Given the description of an element on the screen output the (x, y) to click on. 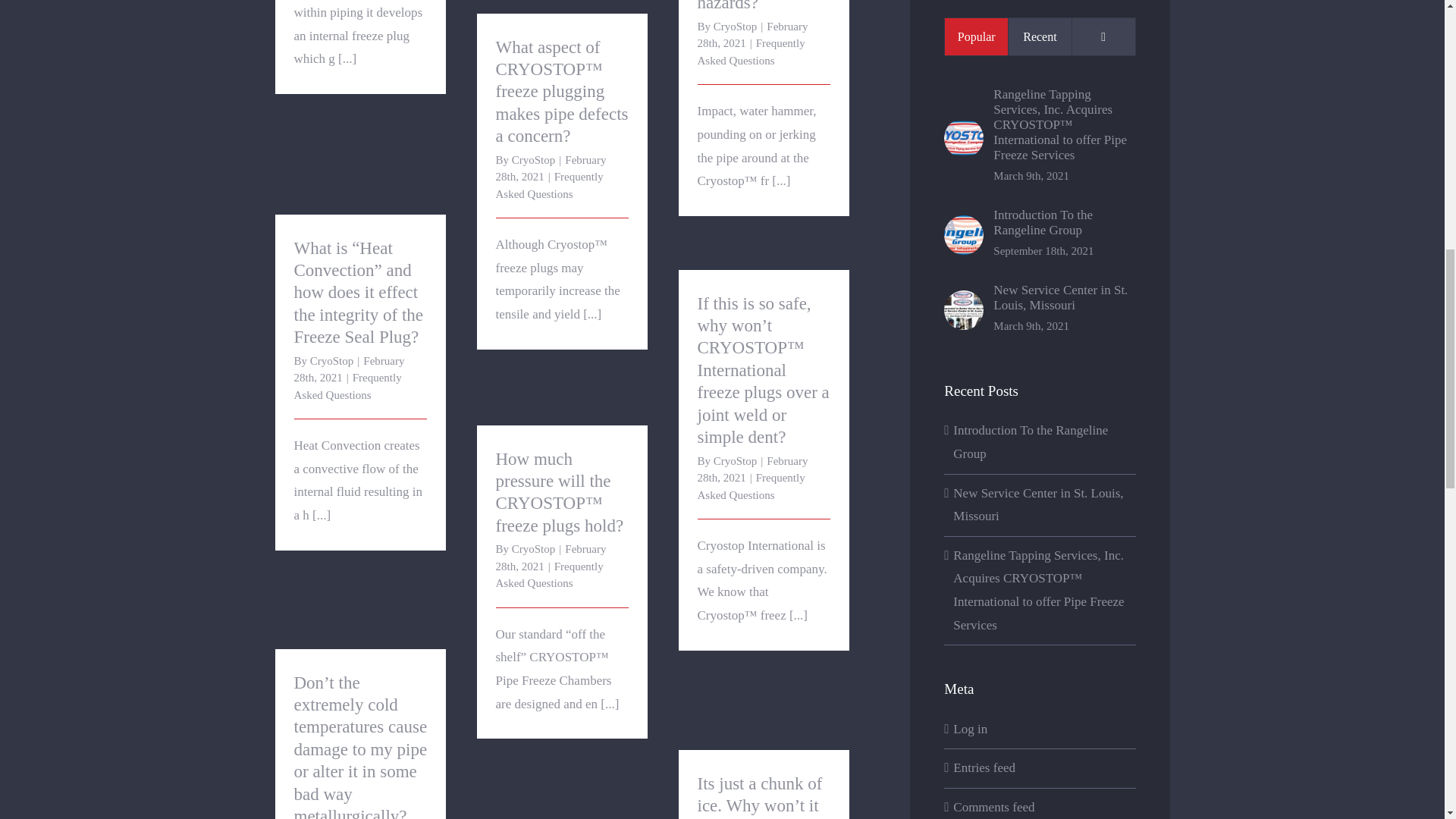
Posts by CryoStop (331, 360)
Posts by CryoStop (735, 460)
Frequently Asked Questions (751, 51)
CryoStop (534, 159)
Posts by CryoStop (534, 548)
Posts by CryoStop (735, 26)
Posts by CryoStop (534, 159)
So what are the mechanical hazards? (751, 6)
CryoStop (735, 26)
